Given the description of an element on the screen output the (x, y) to click on. 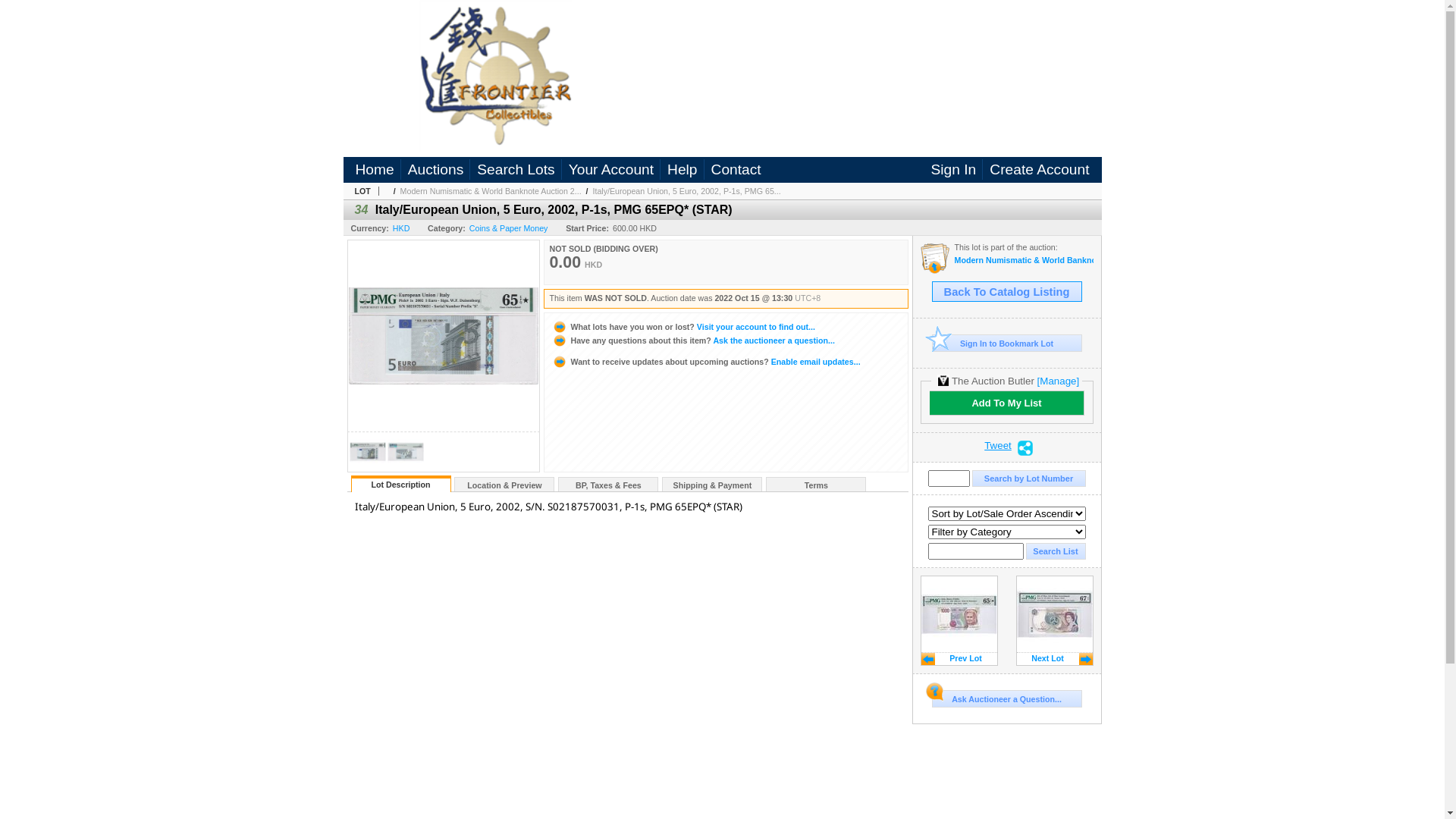
Create Account Element type: text (1039, 169)
Lot Description Element type: text (400, 483)
Contact Element type: text (736, 169)
Modern Numismatic & World Banknote Auction 2022 Element type: text (1022, 260)
Prev Lot Element type: text (958, 620)
Next Lot Element type: text (1054, 620)
[Manage]  Element type: text (1058, 380)
Home Element type: text (377, 169)
Modern Numismatic & World Banknote Auction 2... Element type: text (490, 190)
HKD Element type: text (401, 227)
BP, Taxes & Fees Element type: text (607, 484)
Tweet Element type: text (997, 447)
Search Lots Element type: text (517, 169)
Ask Auctioneer a Question... Element type: text (1006, 698)
Location & Preview Element type: text (504, 484)
Back To Catalog Listing Element type: text (1006, 291)
Add To My List Element type: text (1006, 402)
Sign In Element type: text (955, 169)
Shipping & Payment Element type: text (711, 484)
Your Account Element type: text (613, 169)
Terms Element type: text (815, 484)
Coins & Paper Money Element type: text (508, 227)
Sign In to Bookmark Lot Element type: text (1006, 342)
Auctions Element type: text (437, 169)
Help Element type: text (684, 169)
Italy/European Union, 5 Euro, 2002, P-1s, PMG 65... Element type: text (687, 190)
